Given the description of an element on the screen output the (x, y) to click on. 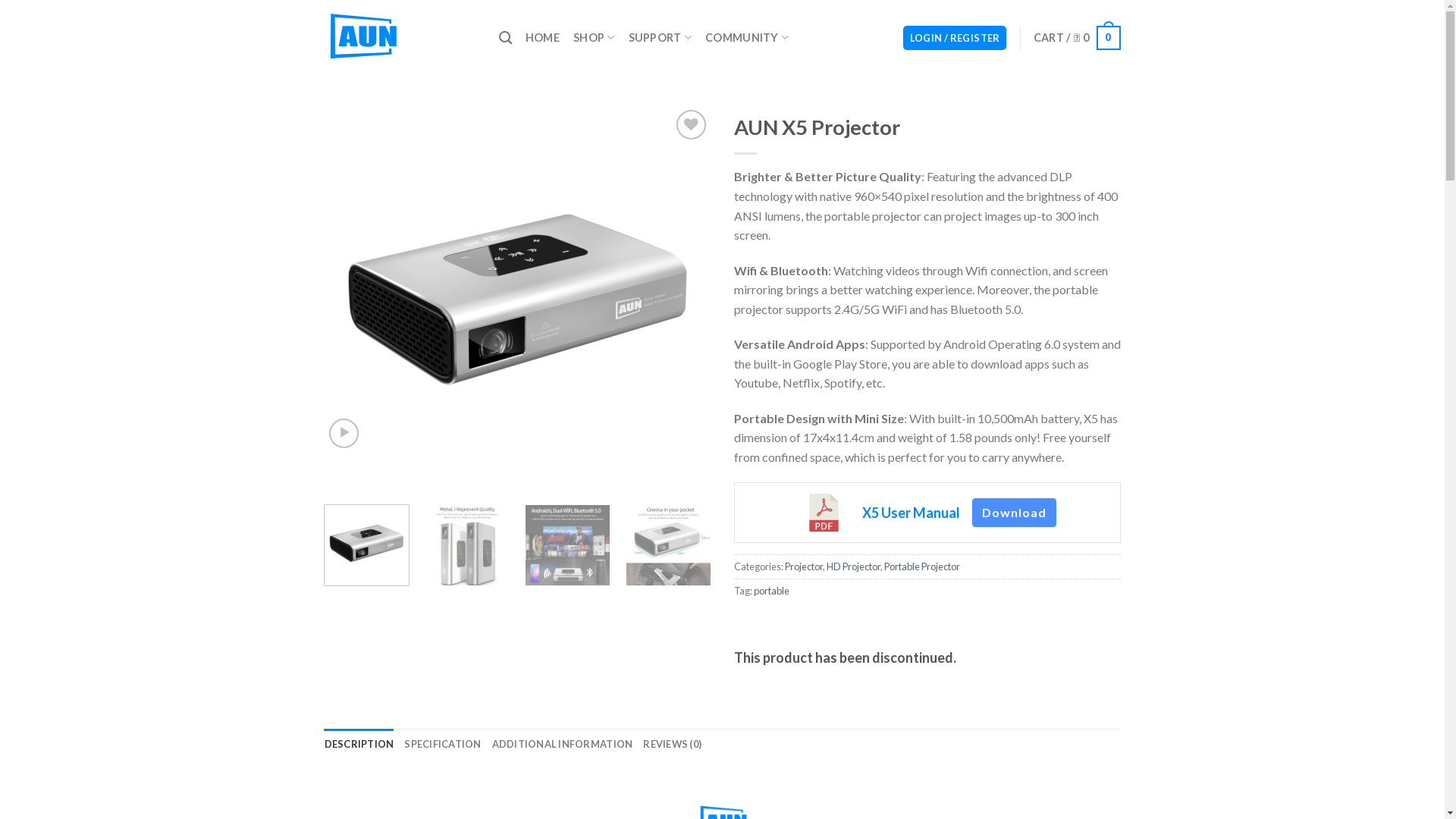
HOME Element type: text (542, 37)
SHOP Element type: text (594, 37)
ADDITIONAL INFORMATION Element type: text (562, 743)
DESCRIPTION Element type: text (359, 743)
AUN X5 Projector 7 Projector Price in Bangladesh Element type: hover (467, 547)
Projector Element type: text (803, 566)
Download Element type: text (1014, 512)
SUPPORT Element type: text (660, 37)
Portable Projector Element type: text (922, 566)
HD Projector Element type: text (853, 566)
portable Element type: text (771, 590)
Video Element type: hover (343, 433)
AUN X5 Projector 1 Projector Price in Bangladesh Element type: hover (517, 299)
AUN X5 Projector 8 Projector Price in Bangladesh Element type: hover (567, 547)
SPECIFICATION Element type: text (442, 743)
LOGIN / REGISTER Element type: text (955, 37)
REVIEWS (0) Element type: text (672, 743)
AUN X5 Projector 9 Projector Price in Bangladesh Element type: hover (668, 547)
COMMUNITY Element type: text (746, 37)
